Given the description of an element on the screen output the (x, y) to click on. 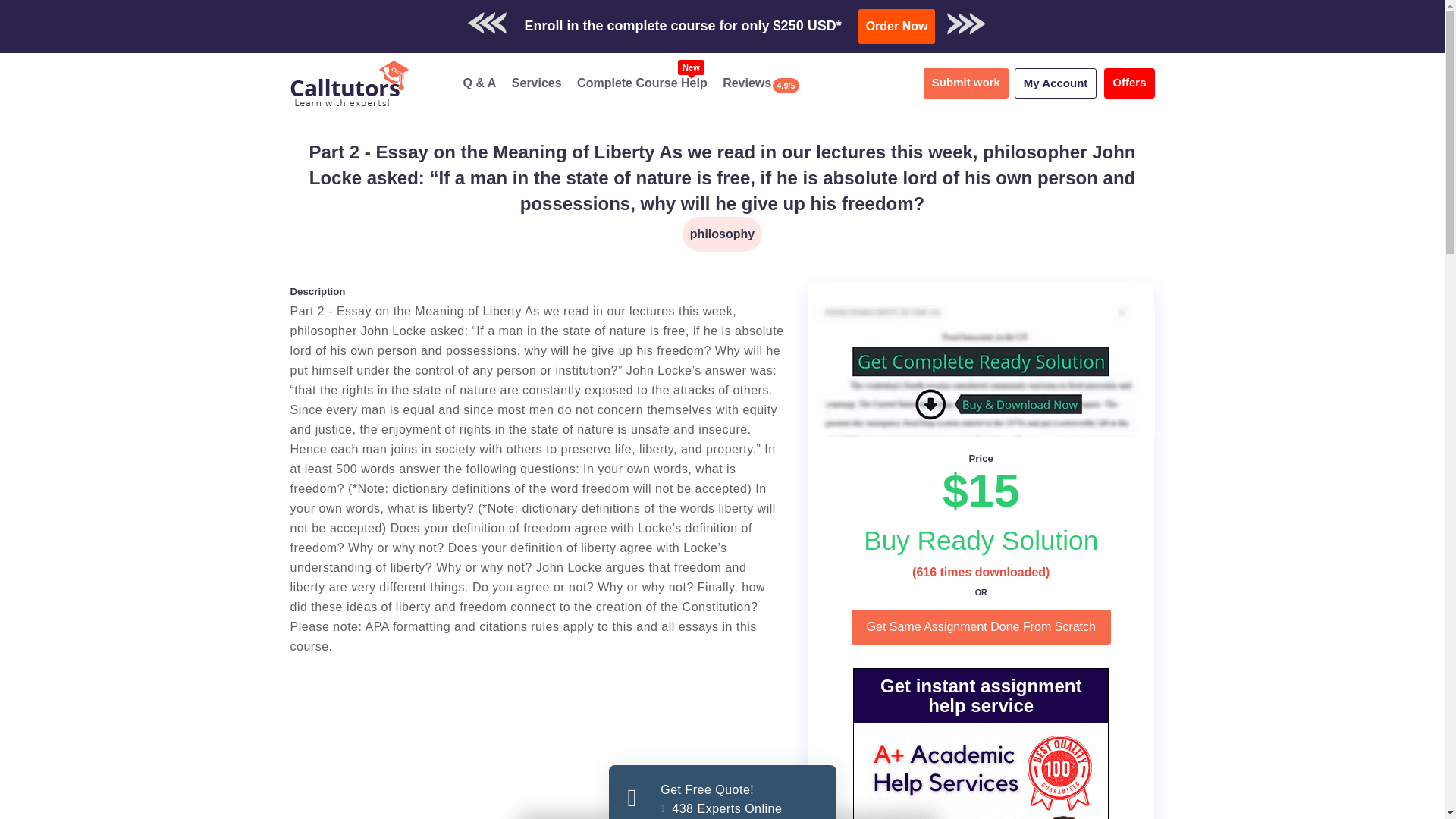
Download Sample (901, 18)
Assignment Title (721, 178)
Submit Work (773, 19)
Buy Ready Solution (981, 540)
Get Same Assignment Done From Scratch (980, 626)
Services (537, 82)
Assignment Subject (721, 234)
Offers (721, 791)
My Account (1128, 82)
Get Same Assignment Done From Scratch (1055, 82)
Order Now (980, 626)
Buy Ready Soluion (641, 82)
Submit work (897, 26)
